Given the description of an element on the screen output the (x, y) to click on. 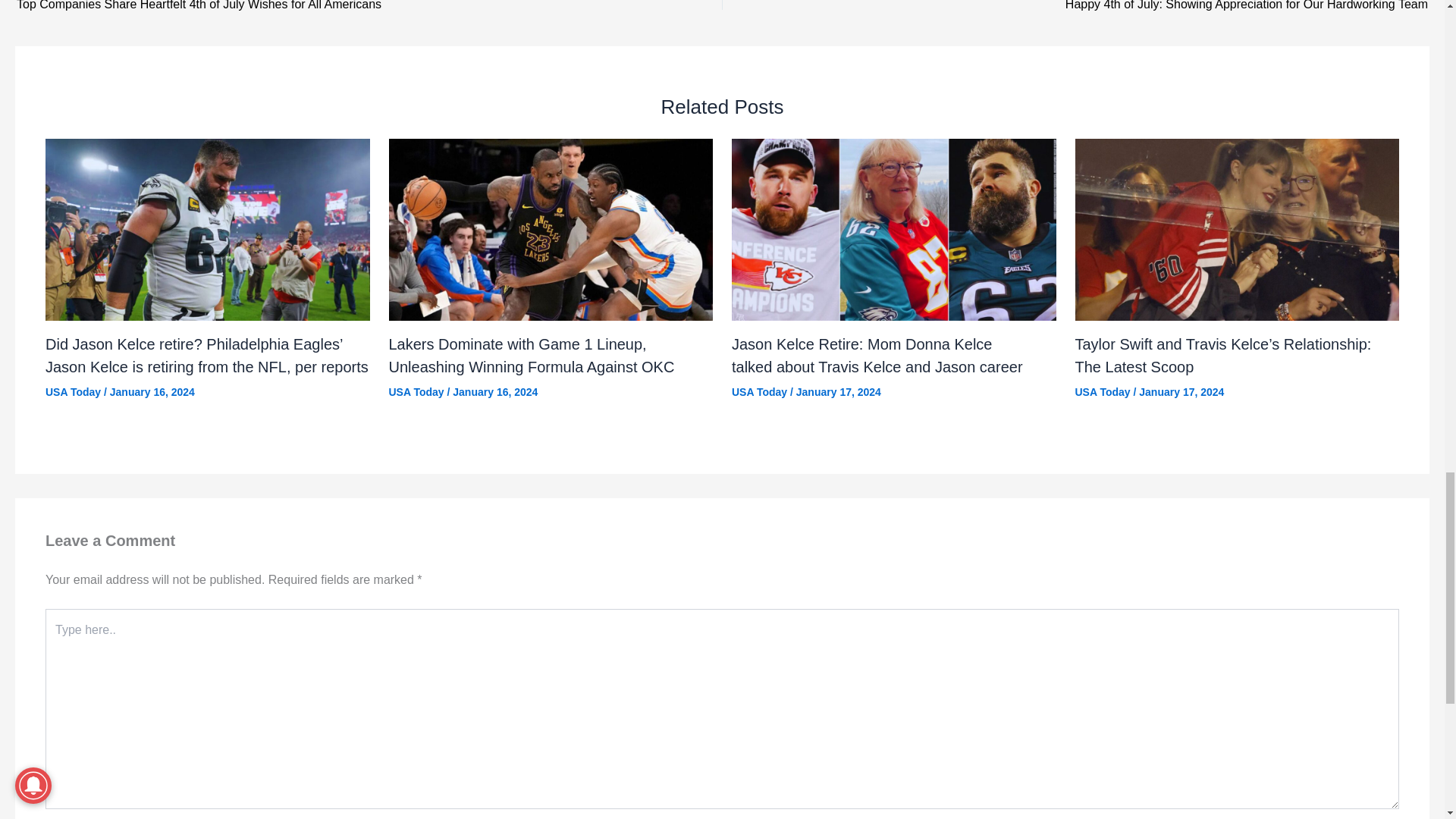
USA Today (759, 391)
USA Today (72, 391)
USA Today (416, 391)
USA Today (1103, 391)
